Given the description of an element on the screen output the (x, y) to click on. 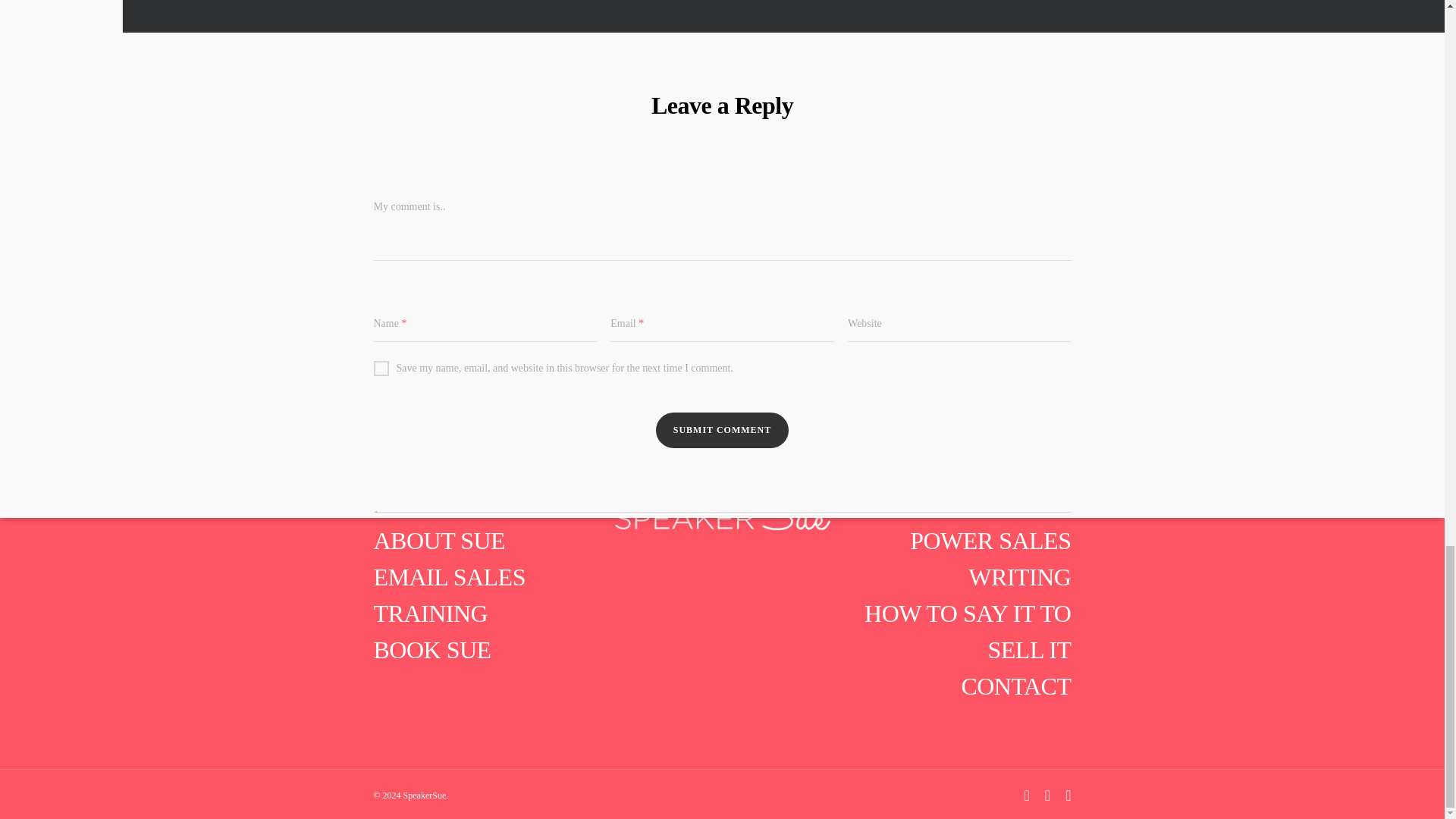
Submit Comment (722, 429)
Cold Calling Made Simple (788, 16)
Submit Comment (722, 429)
